Given the description of an element on the screen output the (x, y) to click on. 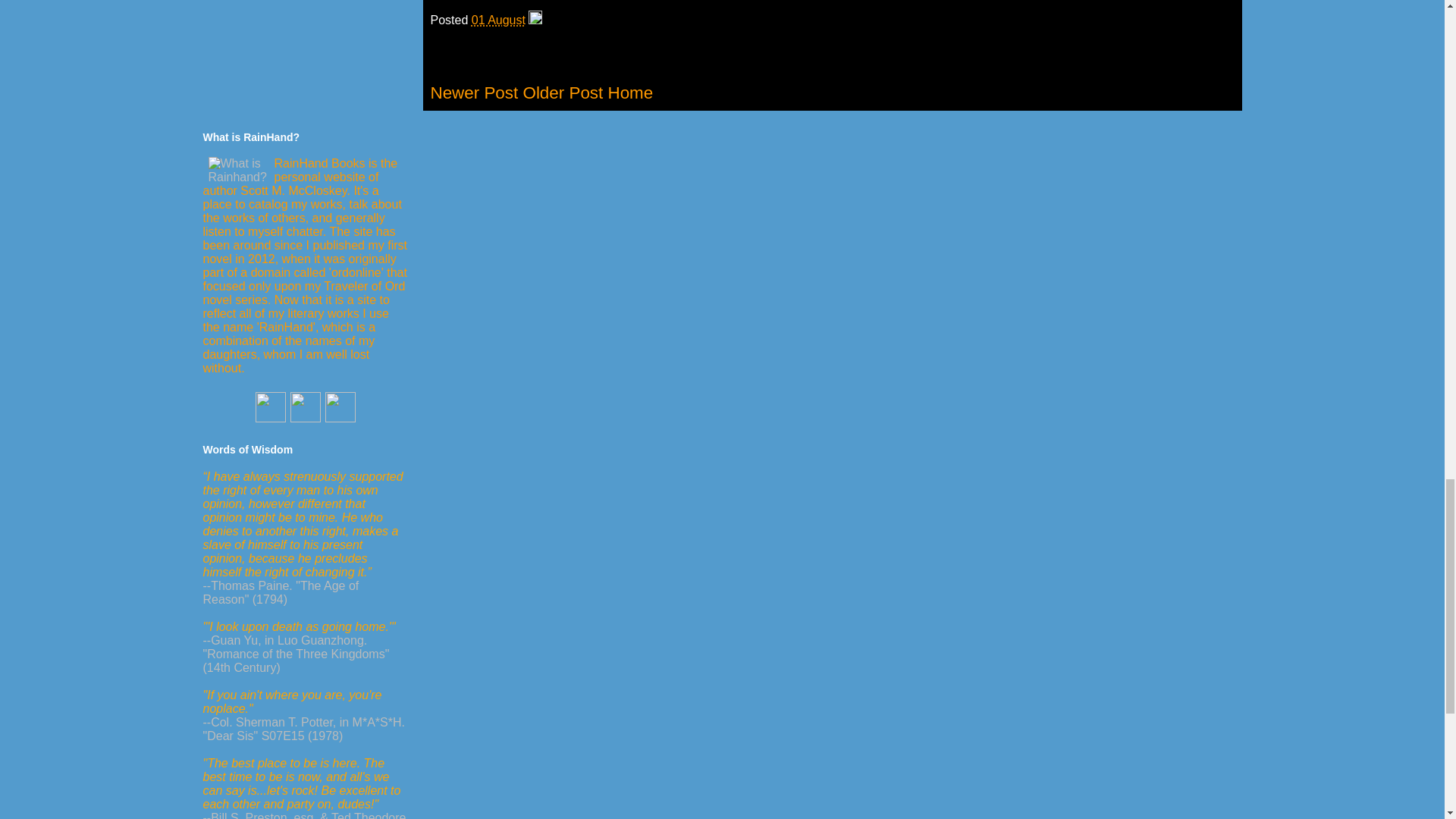
Goodreads (340, 418)
01 August (498, 19)
Edit Post (534, 19)
Newer Post (474, 92)
Amazon (270, 418)
Home (629, 92)
Facebook (305, 418)
permanent link (498, 19)
Older Post (562, 92)
Newer Post (474, 92)
Older Post (562, 92)
